Given the description of an element on the screen output the (x, y) to click on. 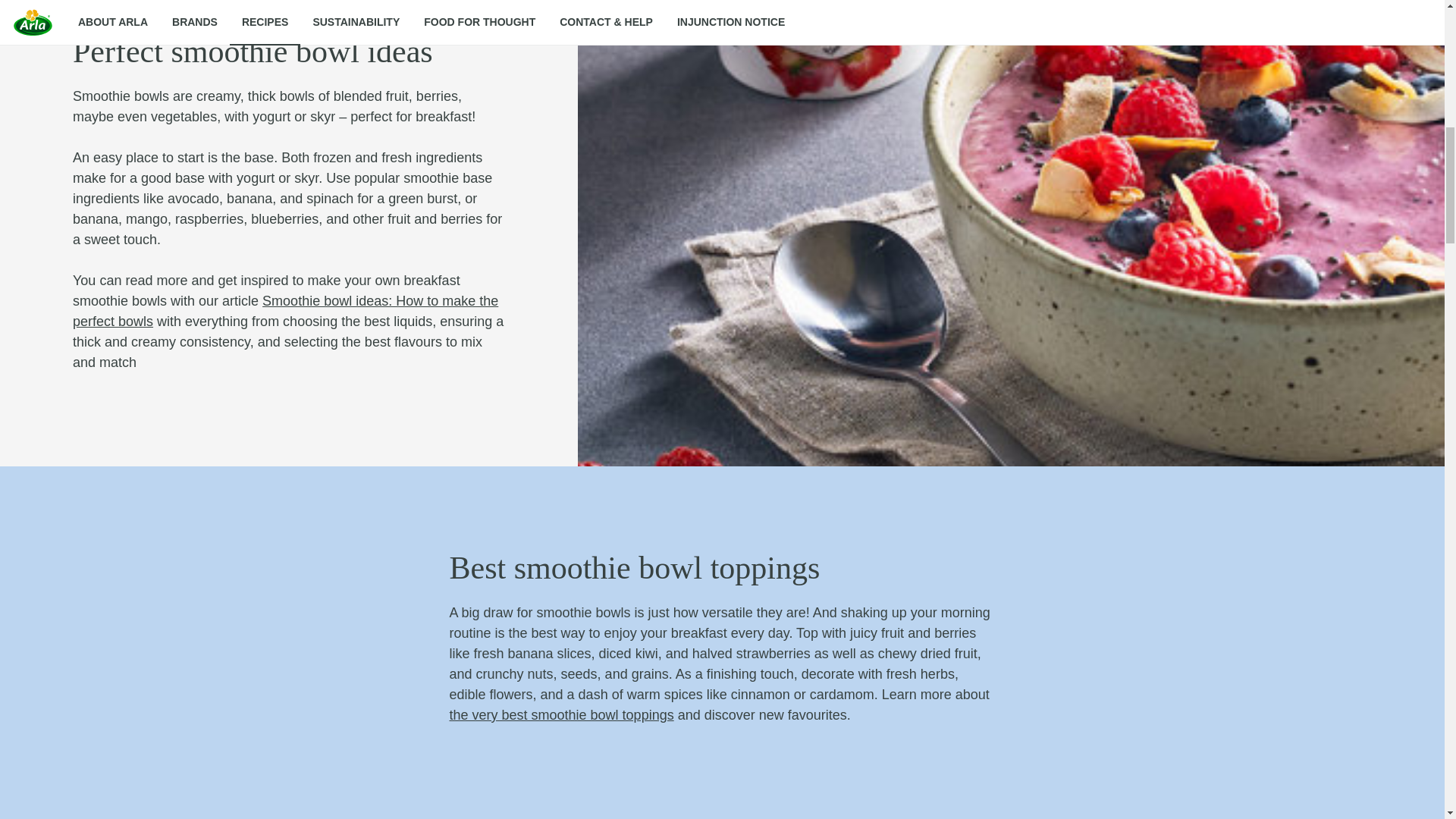
the very best smoothie bowl toppings (560, 714)
